Given the description of an element on the screen output the (x, y) to click on. 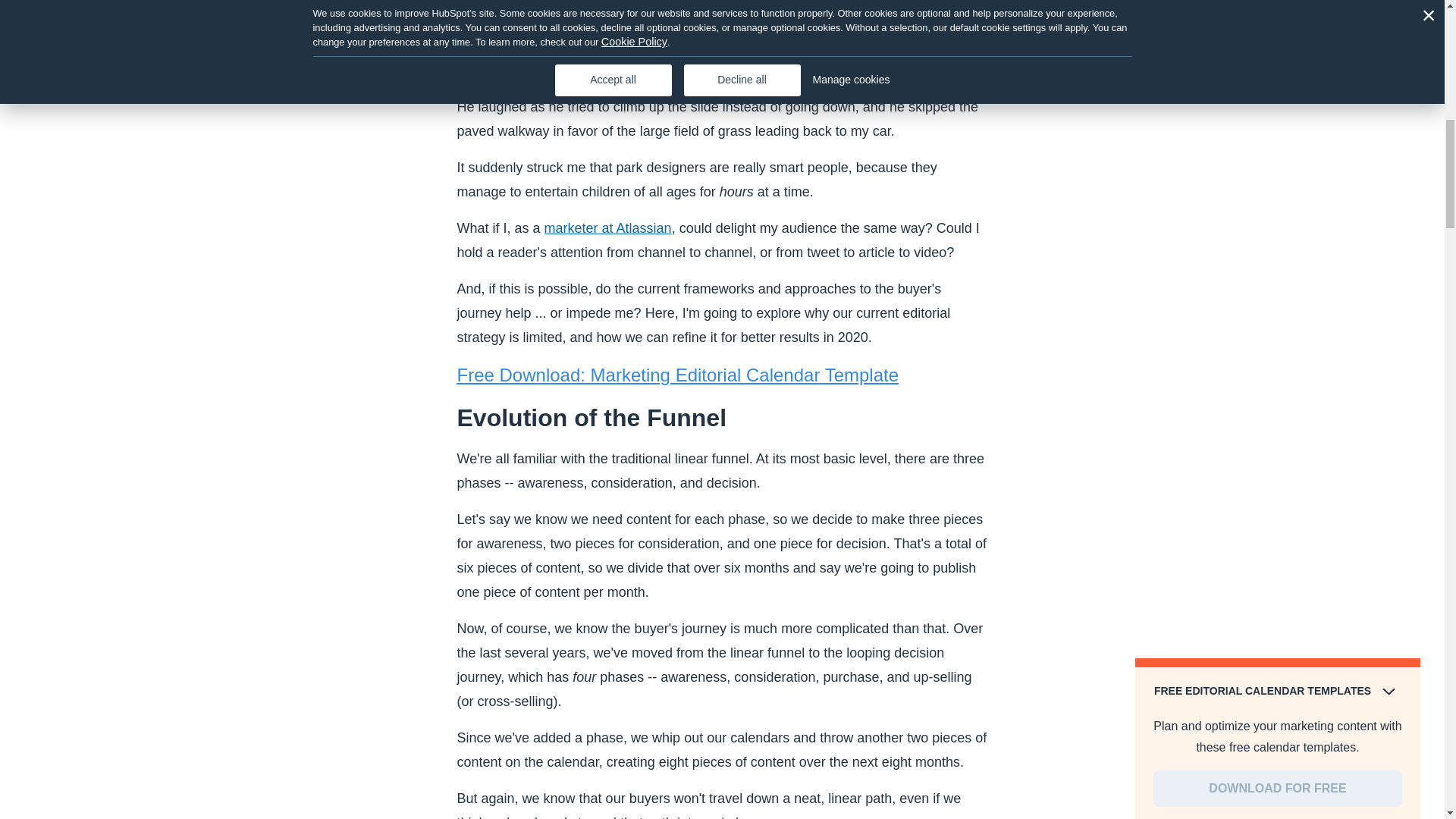
Free Download: Marketing Editorial Calendar Template (677, 374)
